Given the description of an element on the screen output the (x, y) to click on. 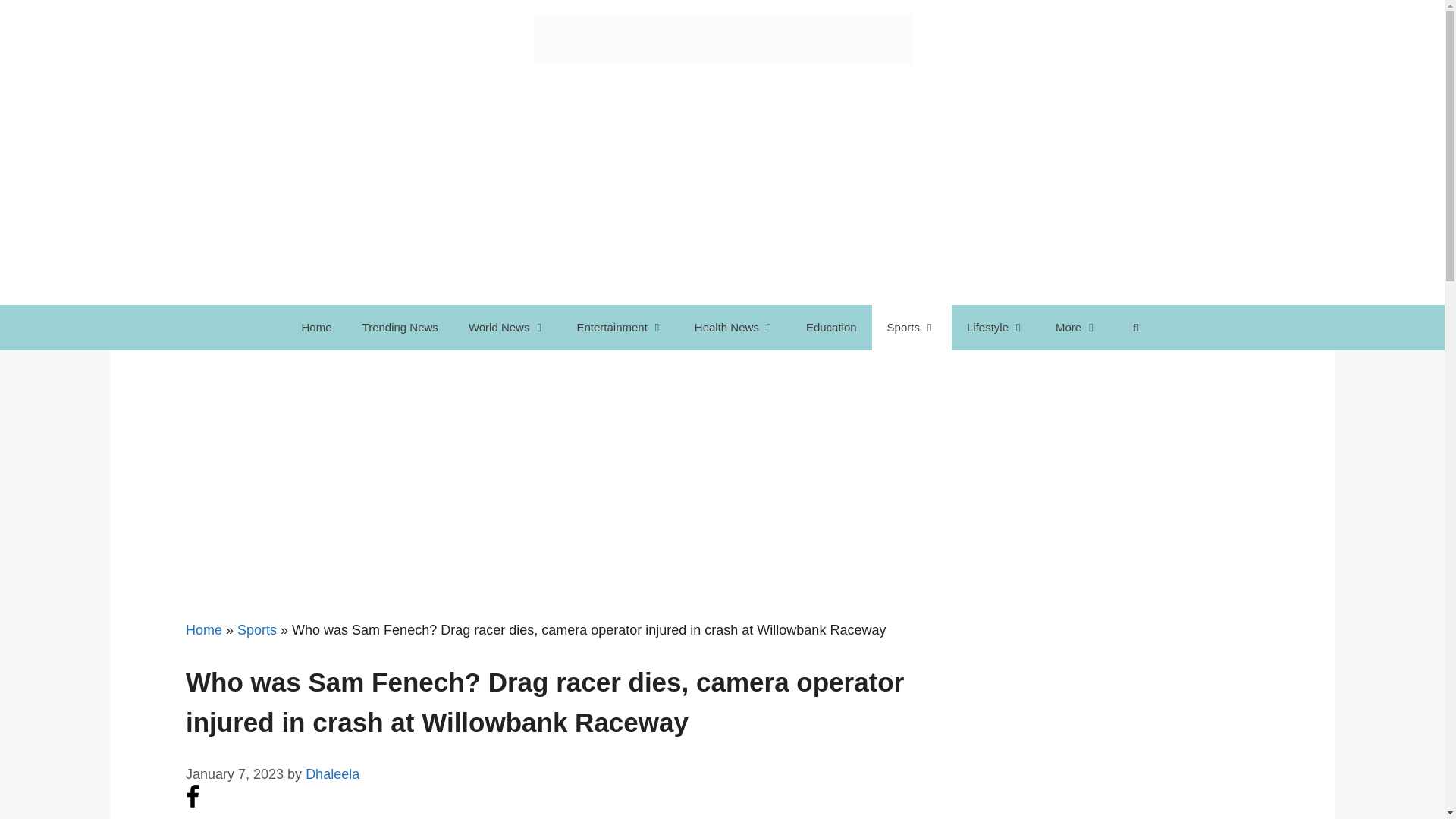
Education (831, 327)
Share on Facebook (193, 804)
Entertainment (619, 327)
Sports (912, 327)
Home (316, 327)
World News (507, 327)
View all posts by Dhaleela (332, 774)
Trending News (399, 327)
Health News (734, 327)
